Given the description of an element on the screen output the (x, y) to click on. 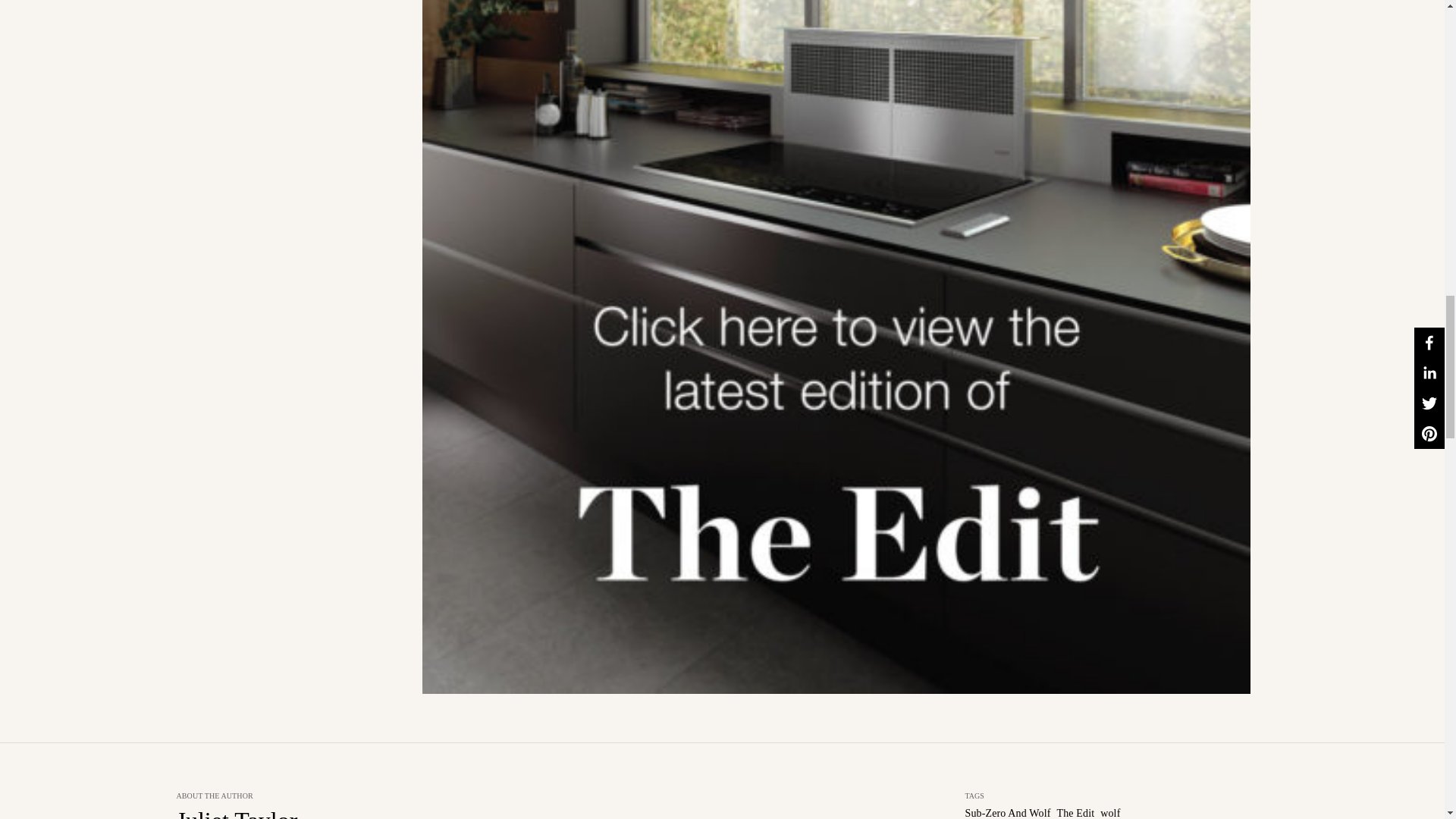
3rd party ad content (289, 22)
